Given the description of an element on the screen output the (x, y) to click on. 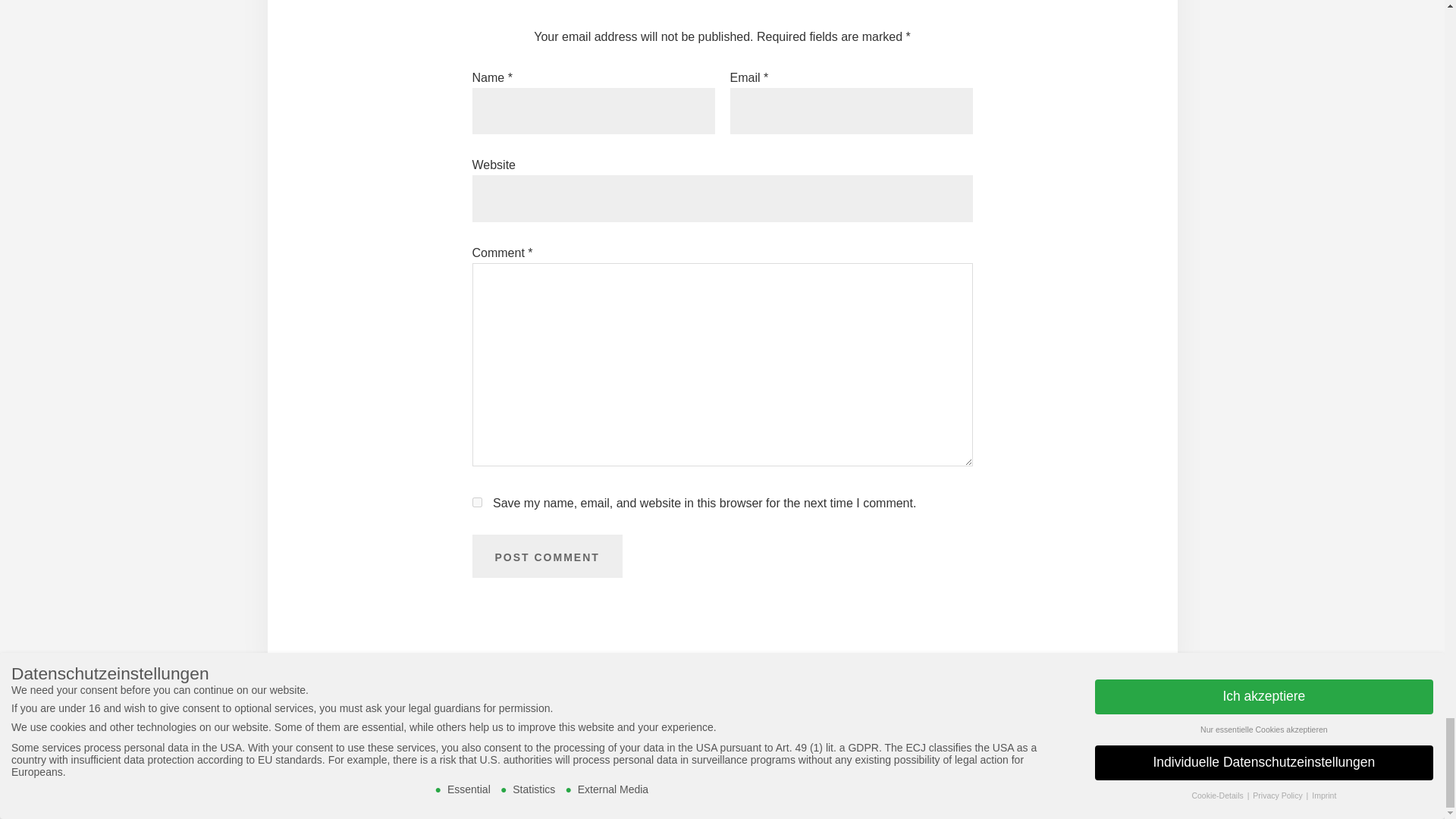
Post Comment (546, 556)
yes (476, 501)
